Given the description of an element on the screen output the (x, y) to click on. 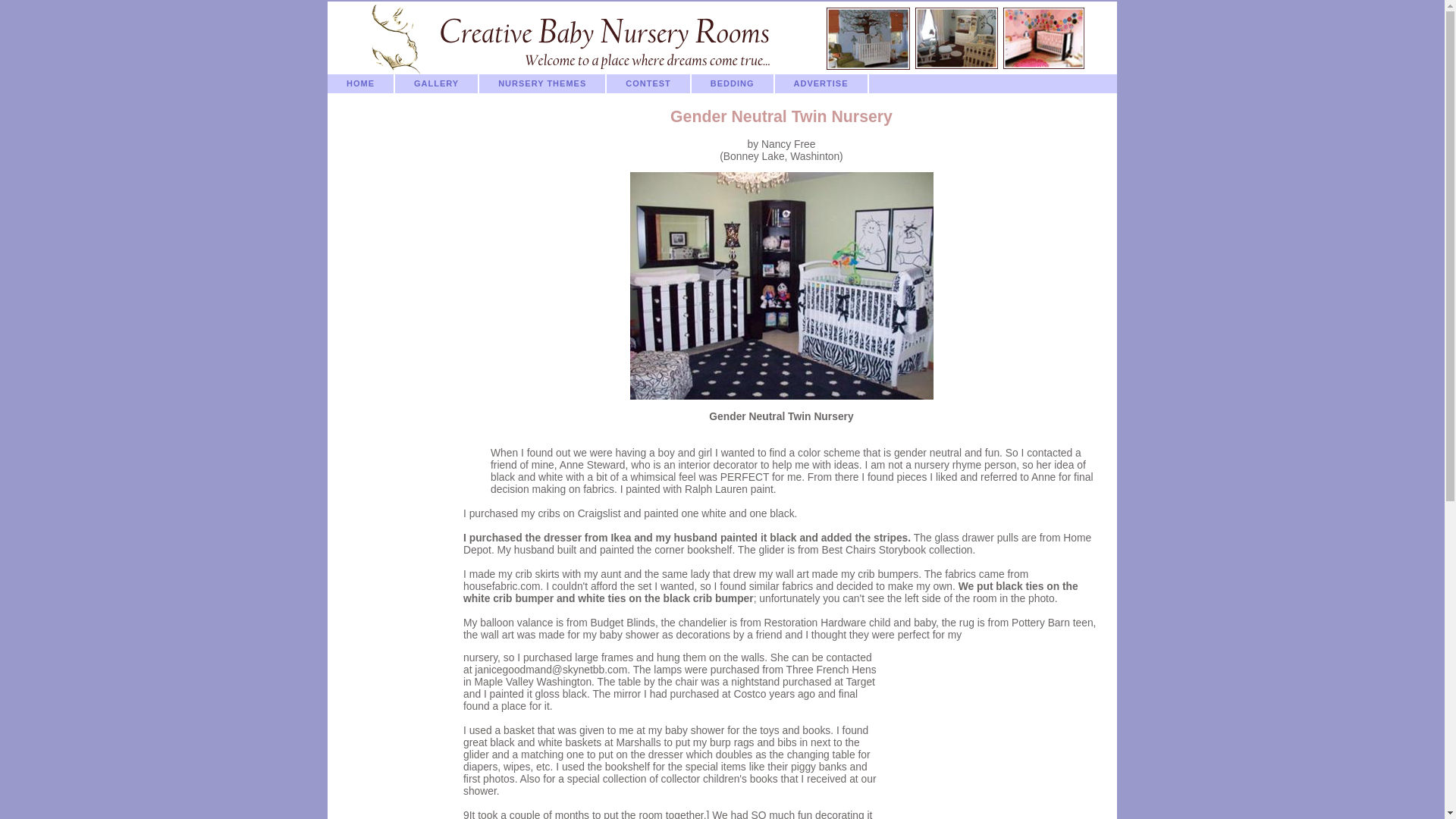
ADVERTISE (821, 83)
HOME (360, 83)
CONTEST (649, 83)
NURSERY THEMES (543, 83)
GALLERY (436, 83)
BEDDING (732, 83)
Gender Neutral Twin Nursery (780, 285)
Advertisement (991, 735)
